Given the description of an element on the screen output the (x, y) to click on. 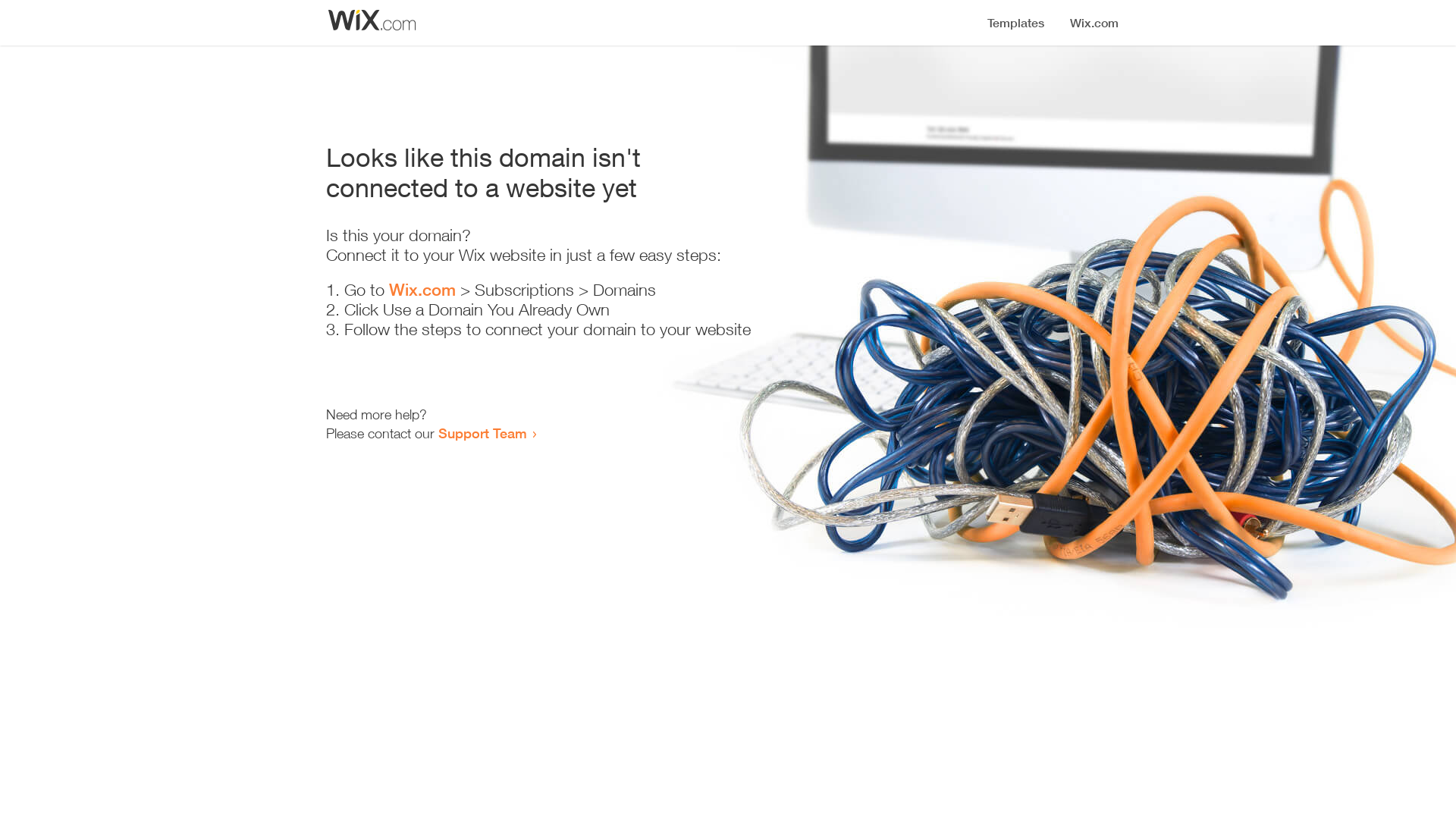
Support Team Element type: text (482, 432)
Wix.com Element type: text (422, 289)
